Given the description of an element on the screen output the (x, y) to click on. 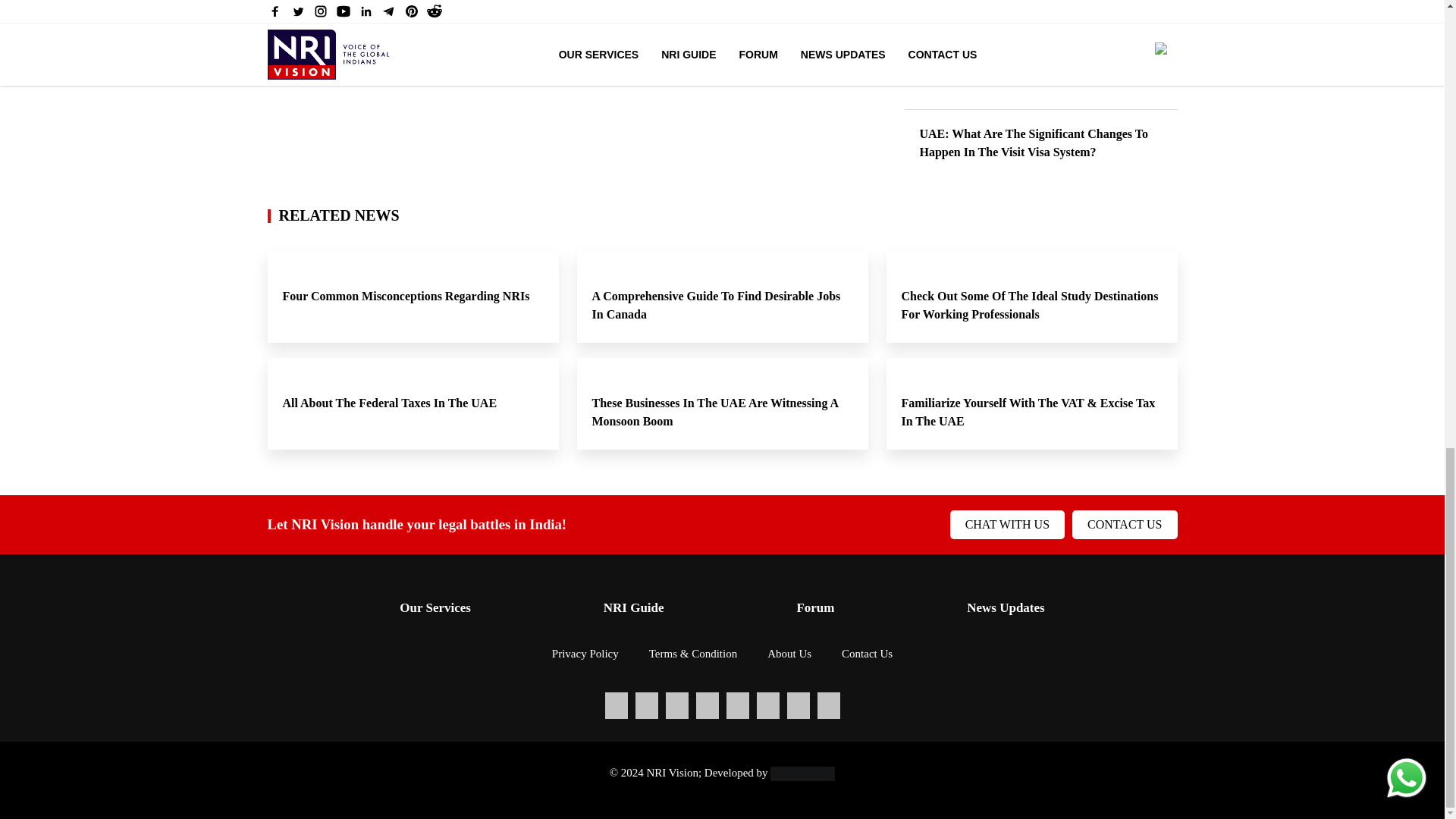
NRI (282, 42)
Web Development Kerala (802, 772)
